Given the description of an element on the screen output the (x, y) to click on. 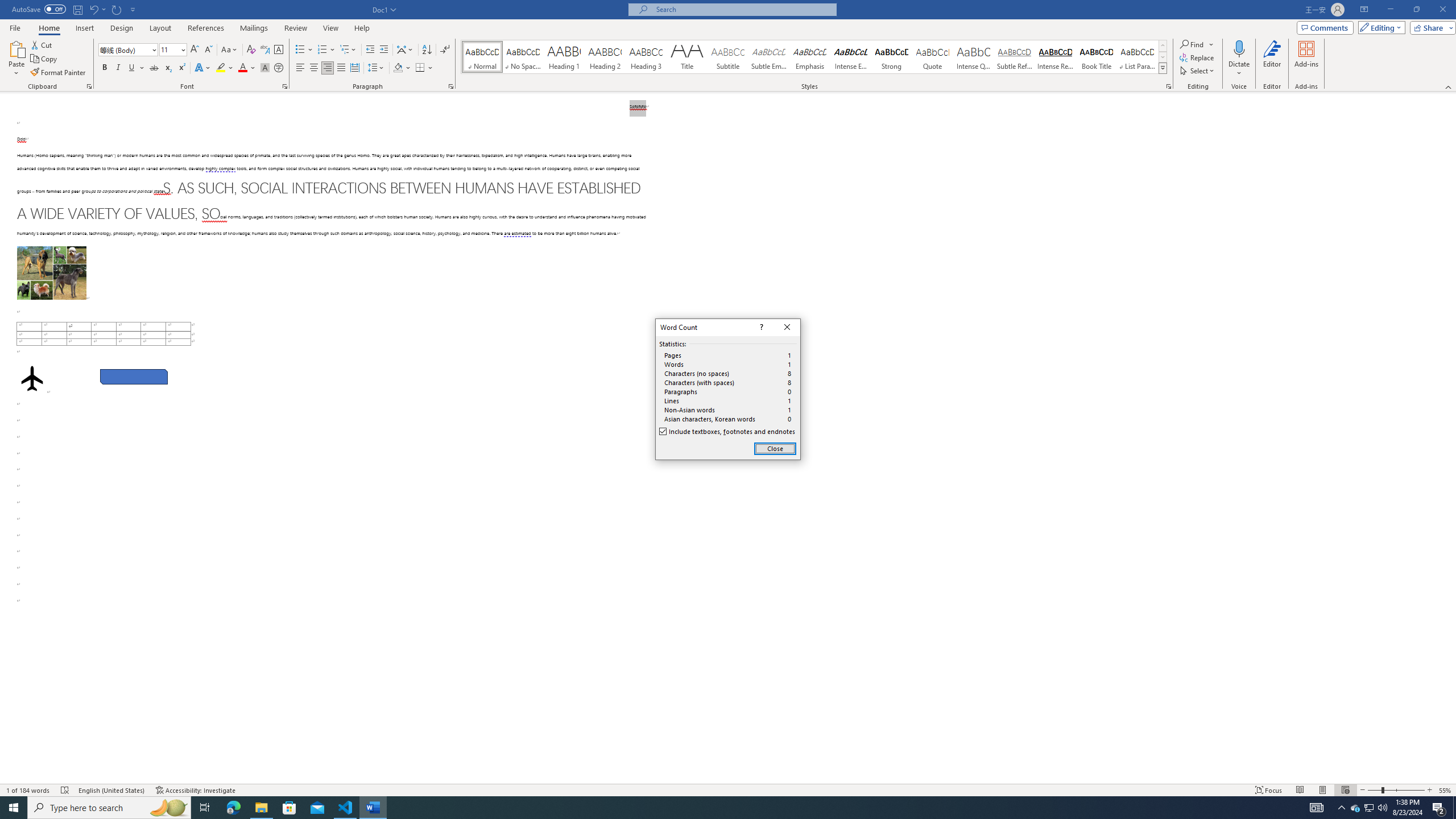
Repeat Paragraph Alignment (117, 9)
Word - 1 running window (373, 807)
Morphological variation in six dogs (51, 272)
Subtitle (727, 56)
